Given the description of an element on the screen output the (x, y) to click on. 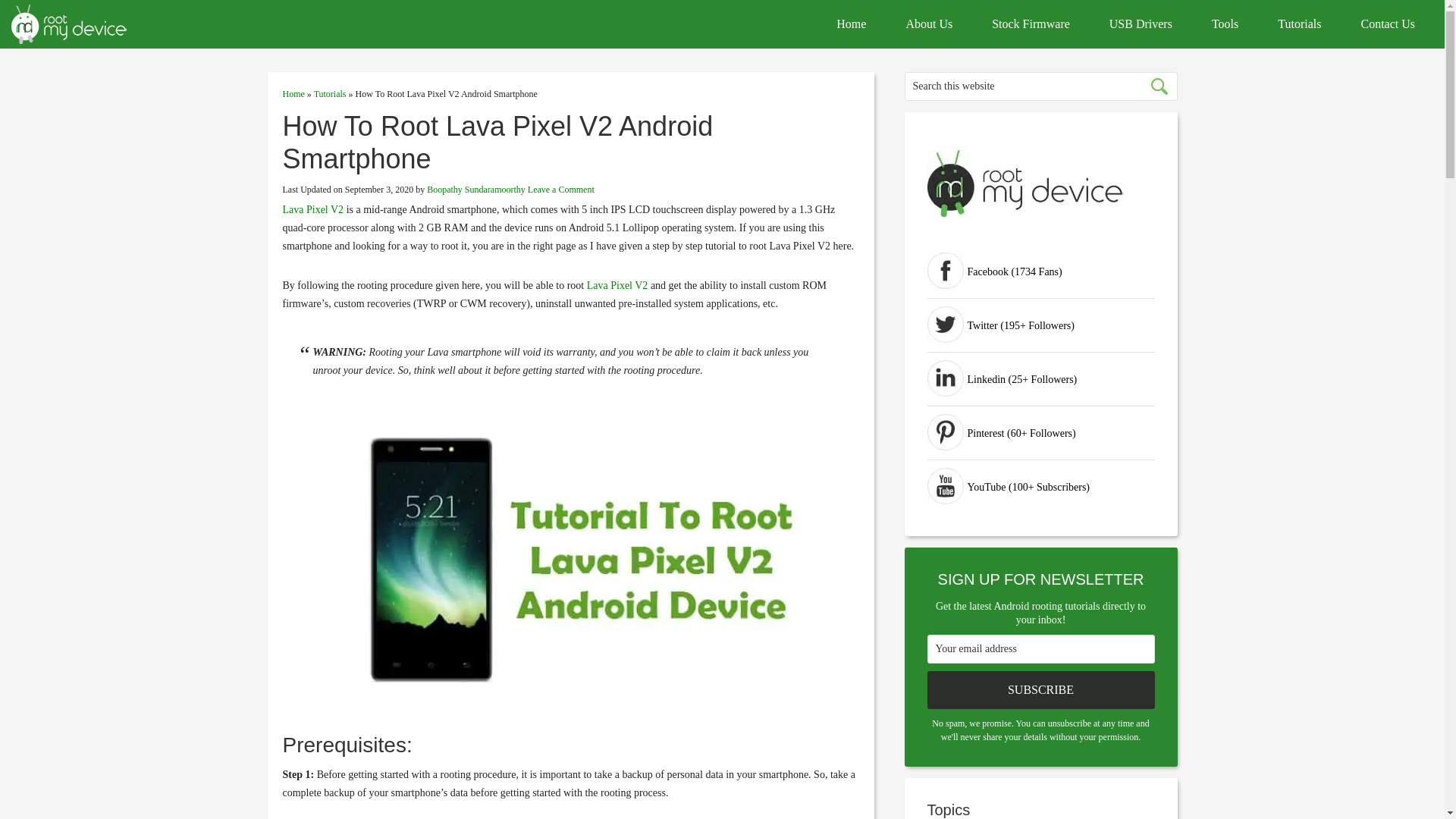
Search (1158, 86)
Tools (1224, 24)
Tutorials (330, 93)
Lava Pixel V2 (616, 285)
USB Drivers (1140, 24)
Boopathy Sundaramoorthy (475, 189)
Subscribe (1040, 689)
About Us (928, 24)
Search this website (1040, 86)
Leave a Comment (560, 189)
